Given the description of an element on the screen output the (x, y) to click on. 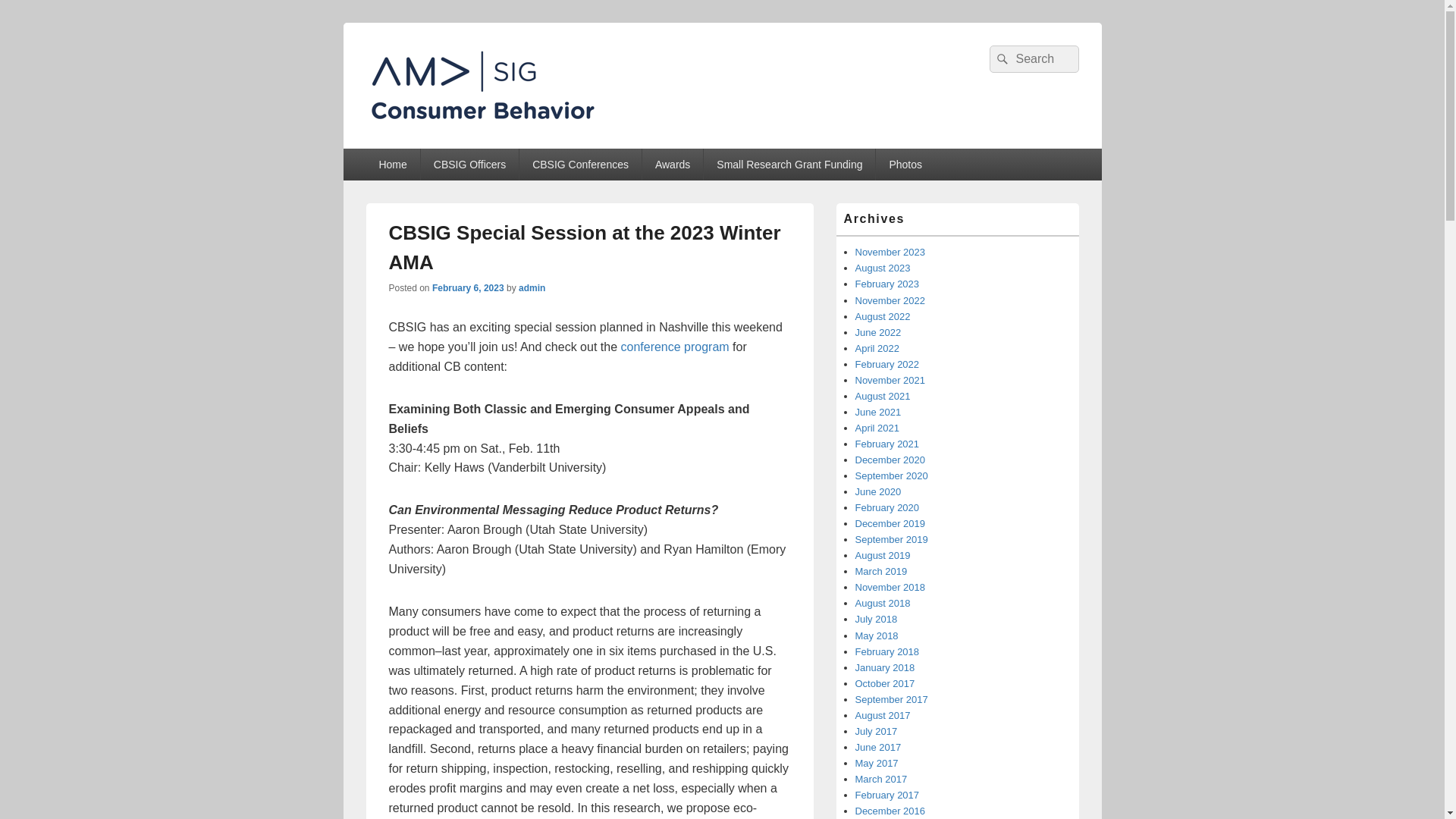
10:38 am (467, 287)
February 6, 2023 (467, 287)
Home (392, 164)
admin (531, 287)
View all posts by admin (531, 287)
CBSIG Officers (469, 164)
Search for: (1033, 58)
Photos (905, 164)
CBSIG Conferences (580, 164)
Awards (672, 164)
Search (999, 58)
CBSIG (408, 142)
conference program (674, 346)
Small Research Grant Funding (789, 164)
